Given the description of an element on the screen output the (x, y) to click on. 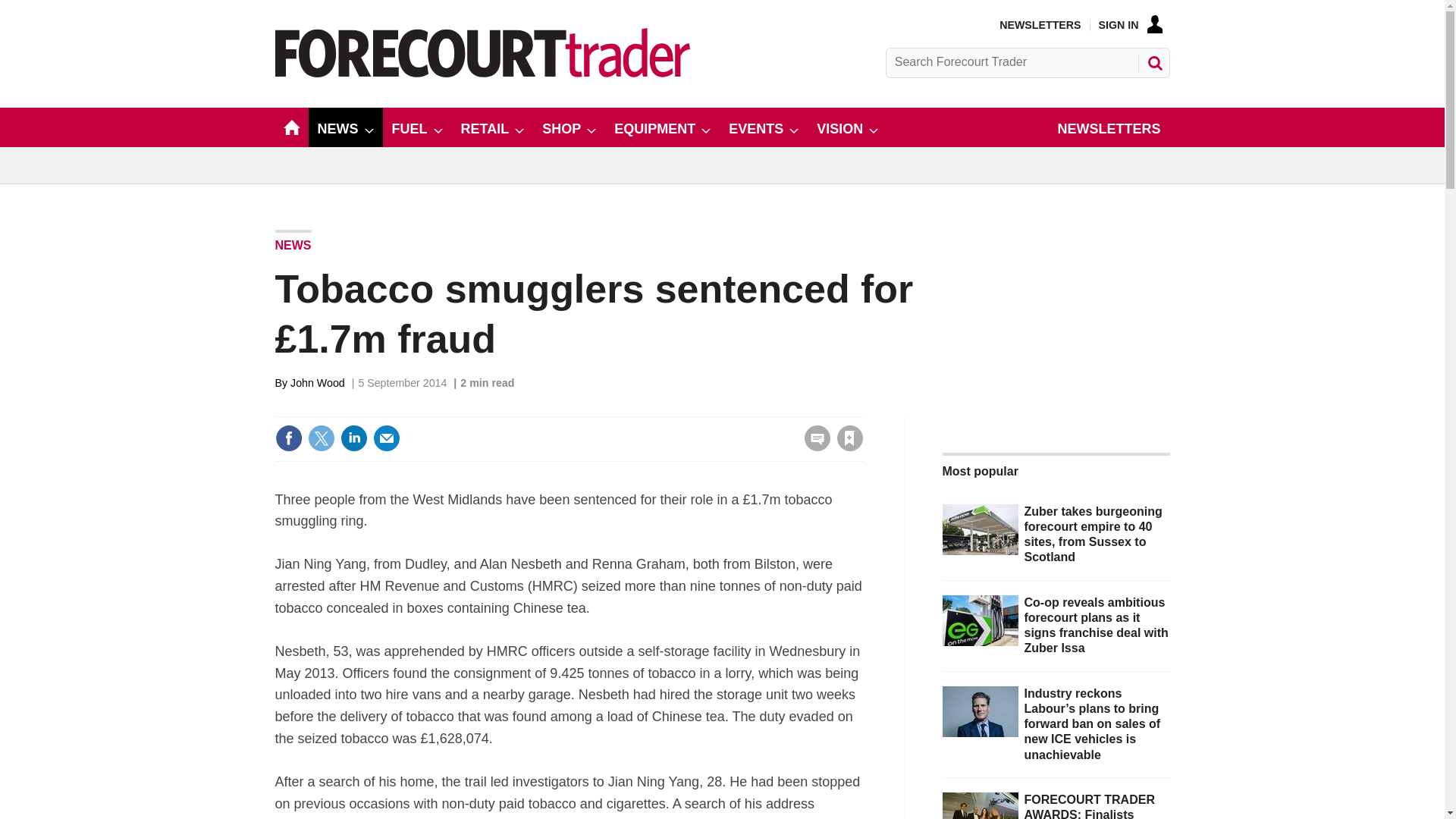
Share this on Twitter (320, 438)
Site name (482, 72)
NEWSLETTERS (1039, 24)
No comments (812, 447)
SEARCH (1153, 62)
SIGN IN (1130, 24)
Email this article (386, 438)
Share this on Facebook (288, 438)
Share this on Linked in (352, 438)
